Given the description of an element on the screen output the (x, y) to click on. 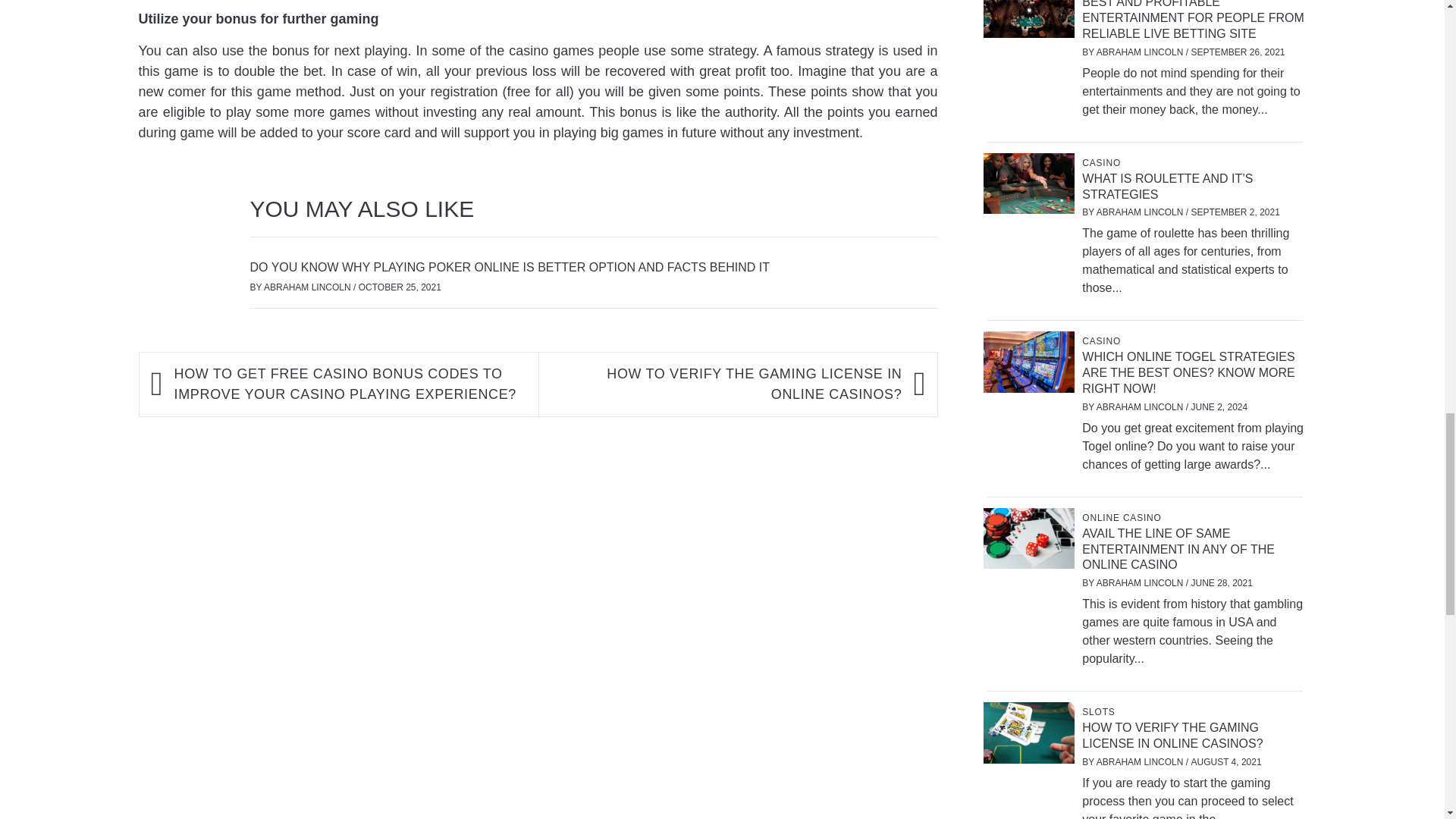
ABRAHAM LINCOLN (308, 286)
HOW TO VERIFY THE GAMING LICENSE IN ONLINE CASINOS? (726, 383)
